Given the description of an element on the screen output the (x, y) to click on. 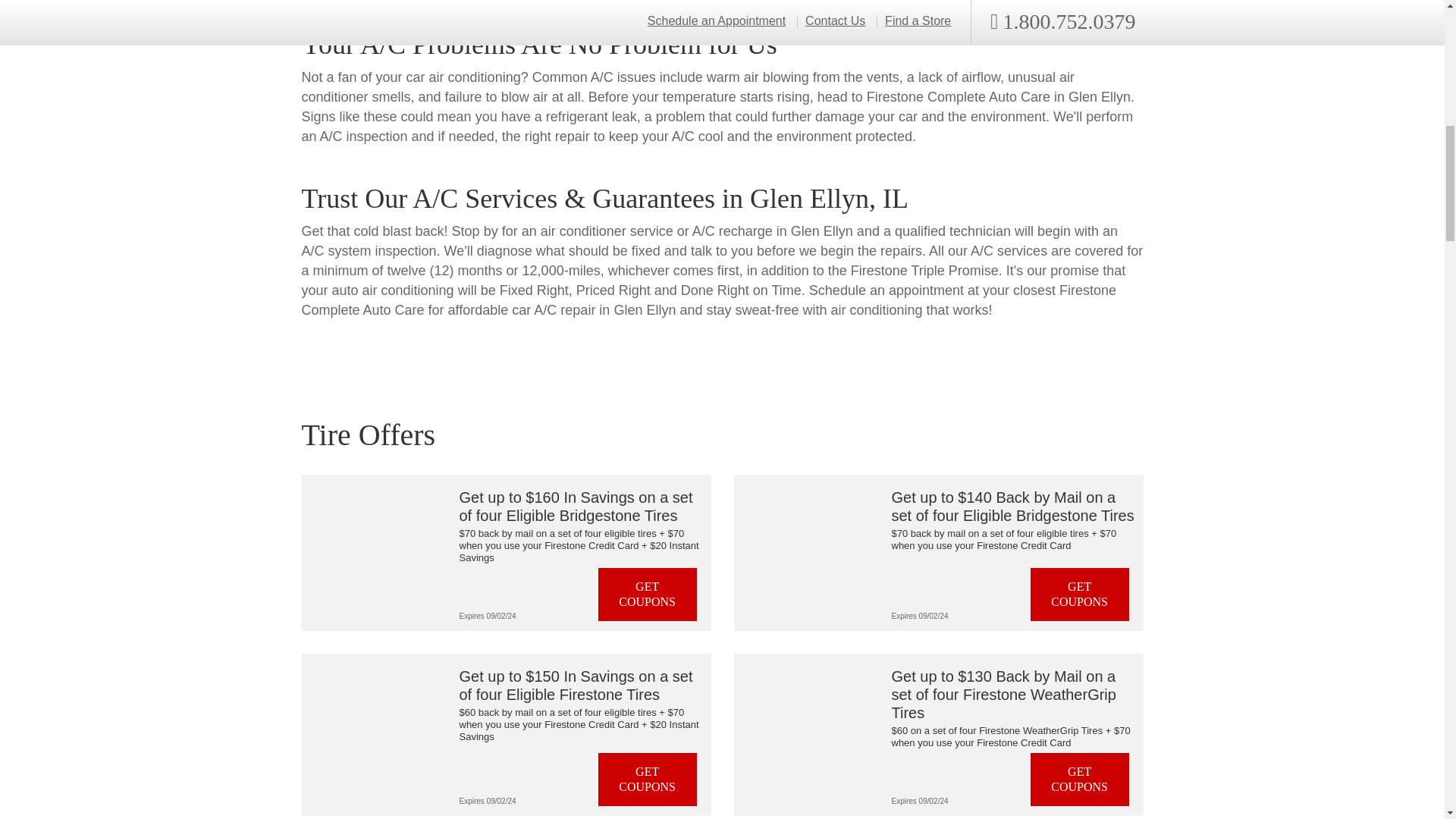
GET COUPONS (647, 594)
